Given the description of an element on the screen output the (x, y) to click on. 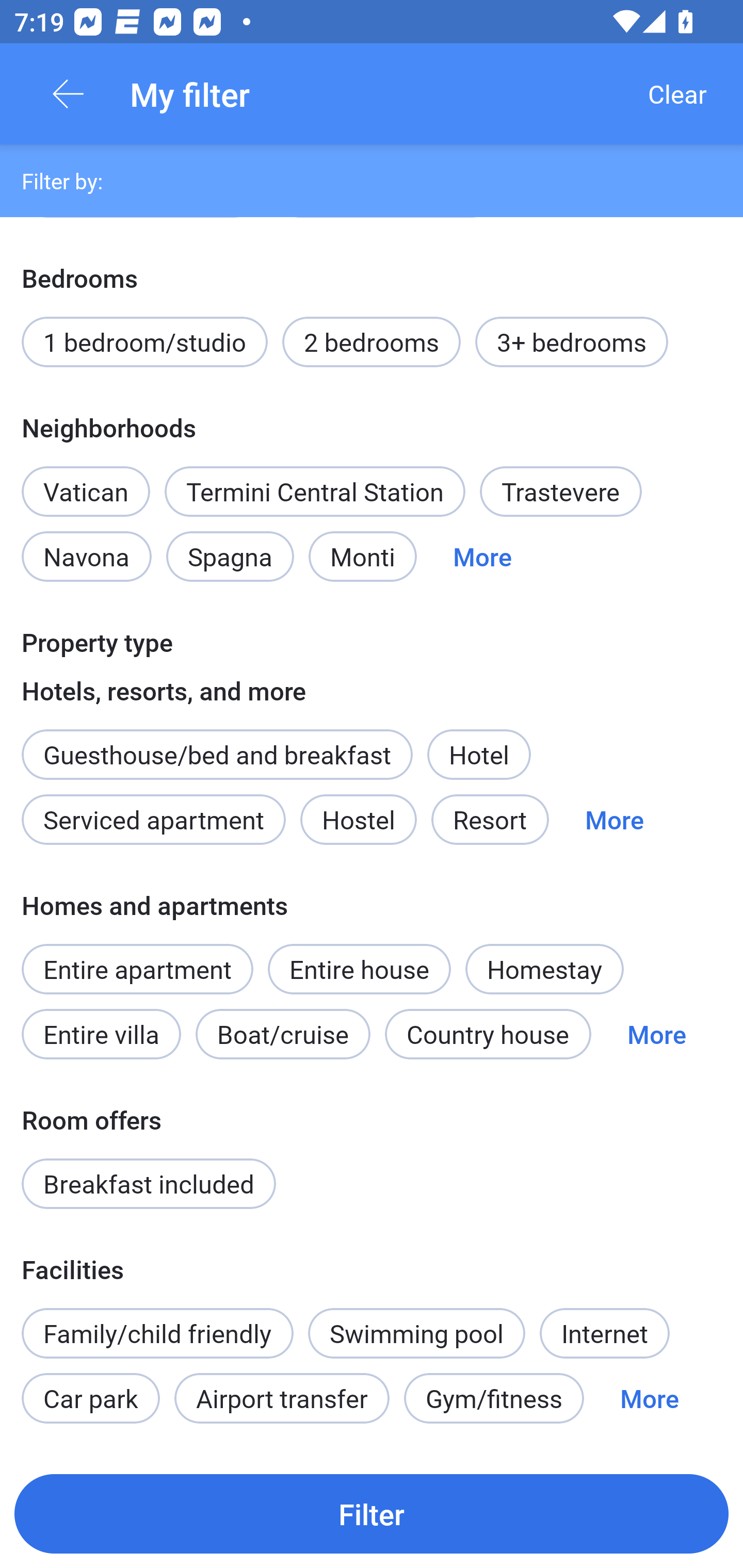
Clear (676, 93)
1 bedroom/studio (144, 341)
2 bedrooms (371, 341)
3+ bedrooms (571, 341)
Vatican (85, 480)
Termini Central Station (314, 491)
Trastevere (560, 491)
Navona (86, 556)
Spagna (230, 556)
Monti (362, 556)
More (482, 556)
Guesthouse/bed and breakfast (217, 754)
Hotel (479, 754)
Serviced apartment (153, 819)
Hostel (358, 819)
Resort (490, 819)
More (614, 819)
Entire apartment (137, 968)
Entire house (359, 968)
Homestay (544, 968)
Entire villa (101, 1033)
Boat/cruise (282, 1033)
Country house (487, 1033)
More (656, 1033)
Breakfast included (148, 1183)
Family/child friendly (157, 1333)
Swimming pool (416, 1333)
Internet (604, 1333)
Car park (90, 1397)
Airport transfer (281, 1397)
Gym/fitness (493, 1397)
More (649, 1397)
Filter (371, 1513)
